Given the description of an element on the screen output the (x, y) to click on. 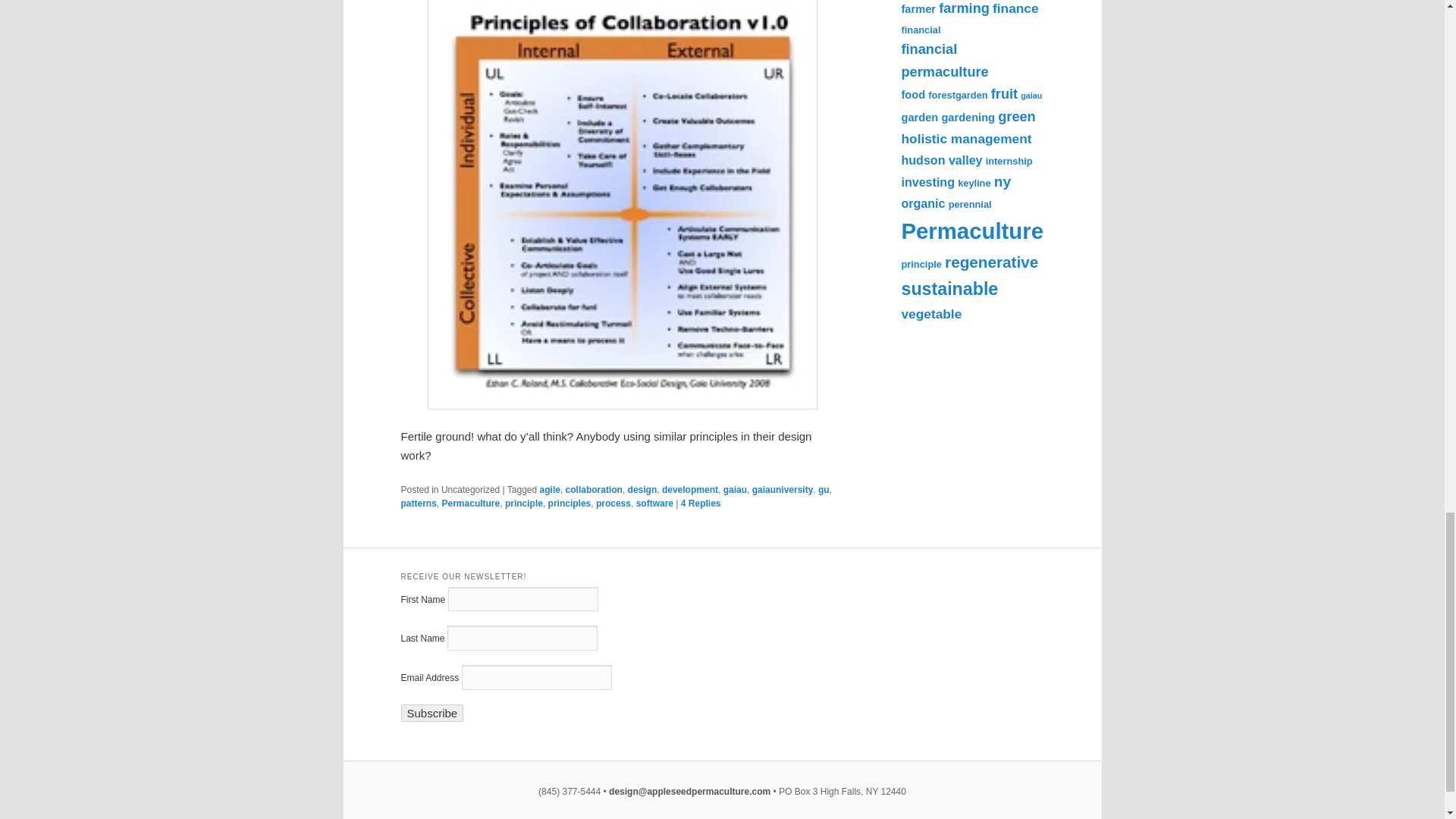
design (642, 489)
gaiau (734, 489)
agile (550, 489)
collaboration (594, 489)
development (689, 489)
Subscribe (431, 712)
